Given the description of an element on the screen output the (x, y) to click on. 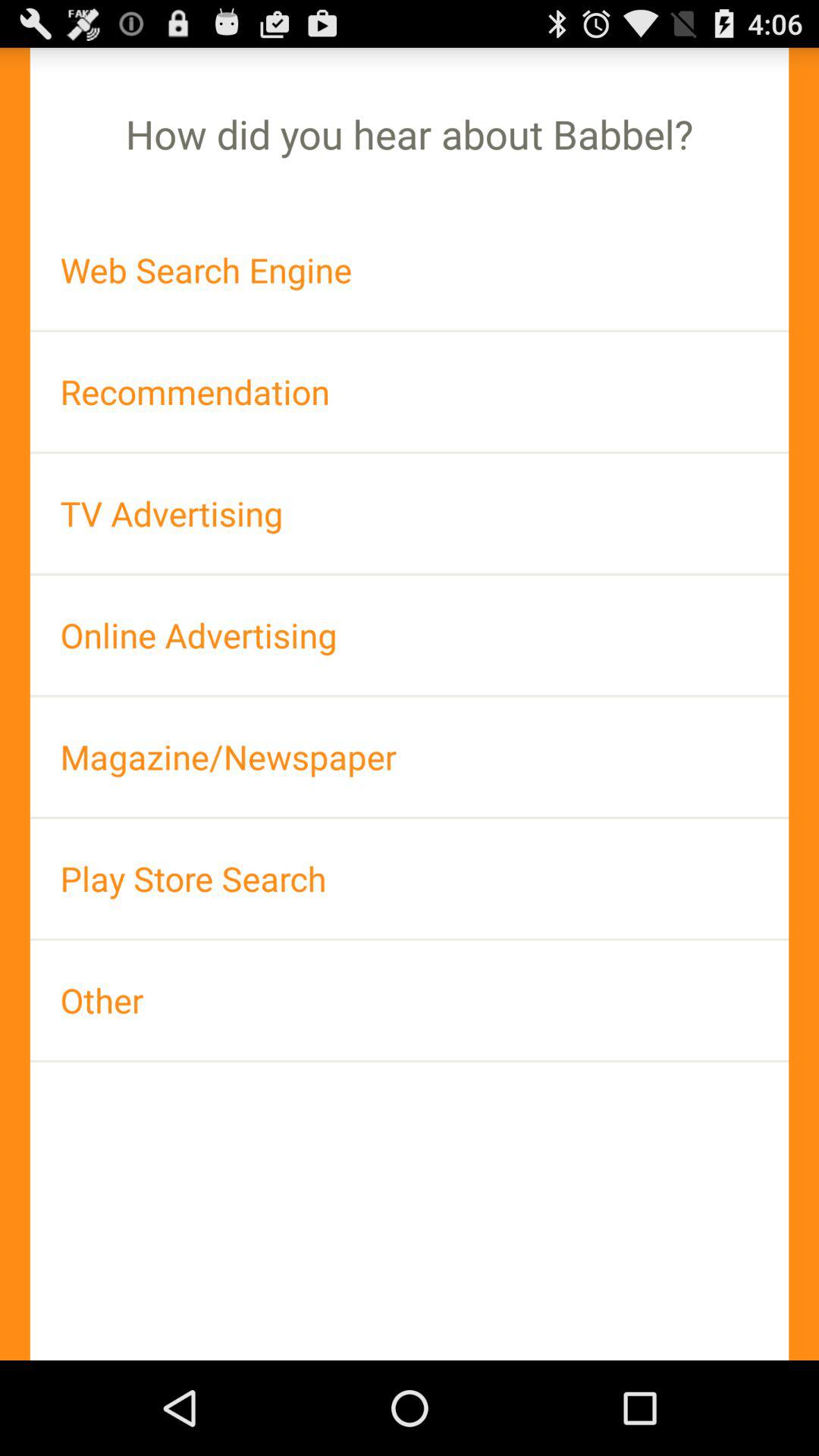
launch the icon above recommendation icon (409, 269)
